Given the description of an element on the screen output the (x, y) to click on. 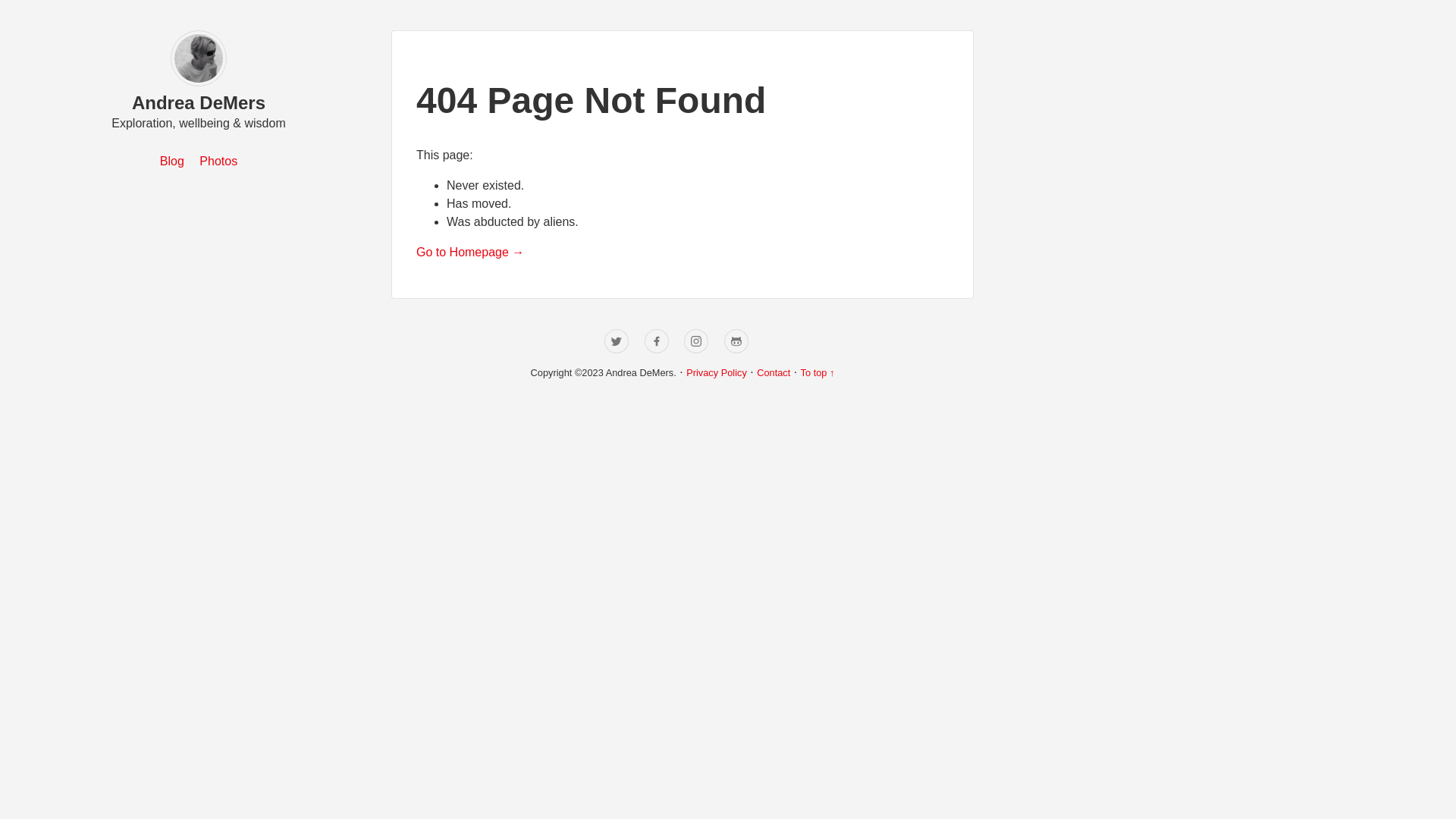
Follow me on Instagram Element type: hover (696, 341)
Privacy Policy Element type: text (716, 372)
twitter icon Element type: text (616, 341)
Contact Element type: text (773, 372)
github icon Element type: text (736, 341)
View Home page Element type: hover (198, 84)
Blog Element type: text (172, 160)
Andrea DeMers Element type: text (198, 102)
facebook icon Element type: text (656, 341)
Photos Element type: text (218, 160)
